Given the description of an element on the screen output the (x, y) to click on. 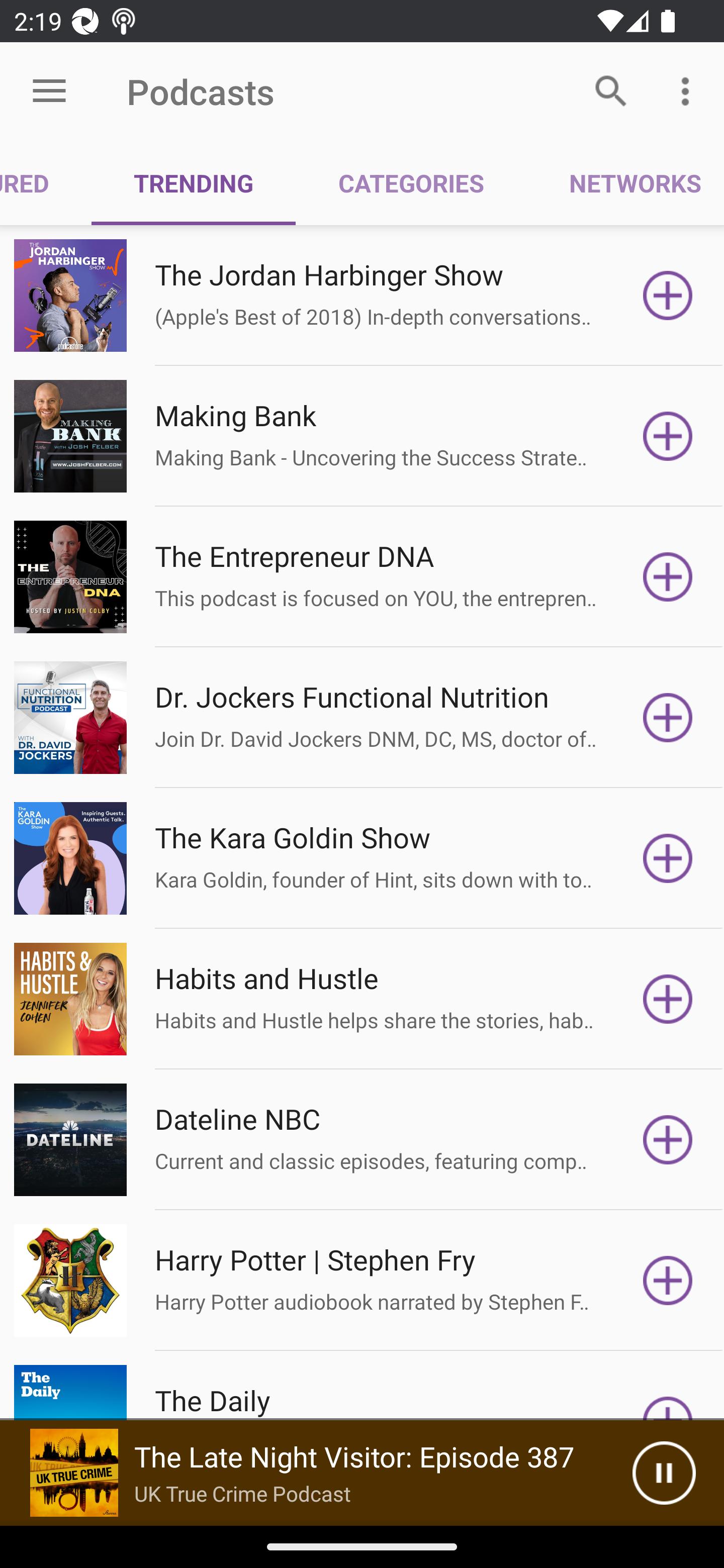
Open menu (49, 91)
Search (611, 90)
More options (688, 90)
TRENDING (193, 183)
CATEGORIES (410, 183)
NETWORKS (625, 183)
Subscribe (667, 295)
Subscribe (667, 435)
Subscribe (667, 576)
Subscribe (667, 717)
Subscribe (667, 858)
Subscribe (667, 998)
Subscribe (667, 1139)
Subscribe (667, 1280)
Picture The Daily Subscribe (362, 1385)
Pause (663, 1472)
